Given the description of an element on the screen output the (x, y) to click on. 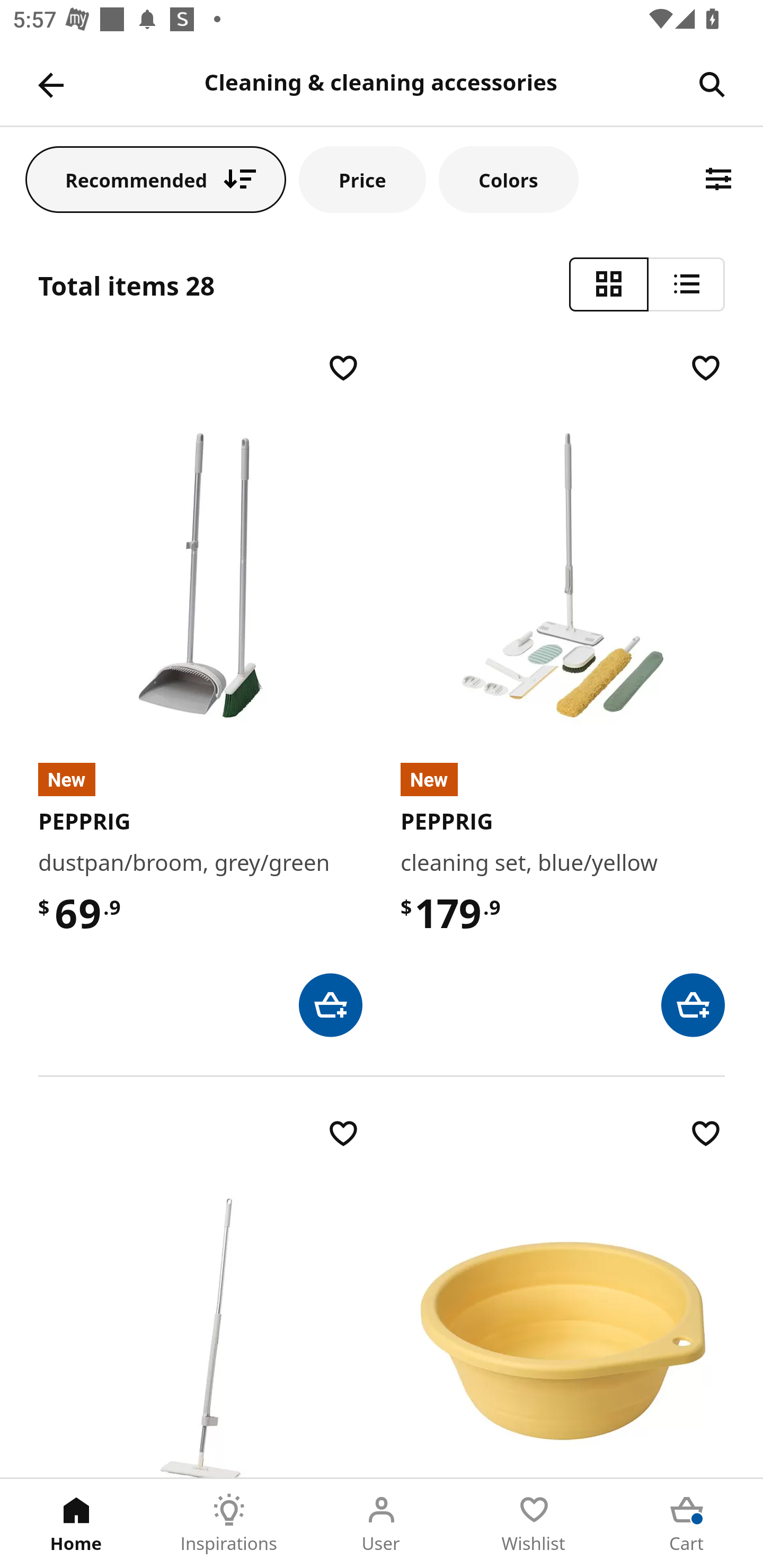
Recommended (155, 179)
Price (362, 179)
Colors (508, 179)
Home
Tab 1 of 5 (76, 1522)
Inspirations
Tab 2 of 5 (228, 1522)
User
Tab 3 of 5 (381, 1522)
Wishlist
Tab 4 of 5 (533, 1522)
Cart
Tab 5 of 5 (686, 1522)
